Given the description of an element on the screen output the (x, y) to click on. 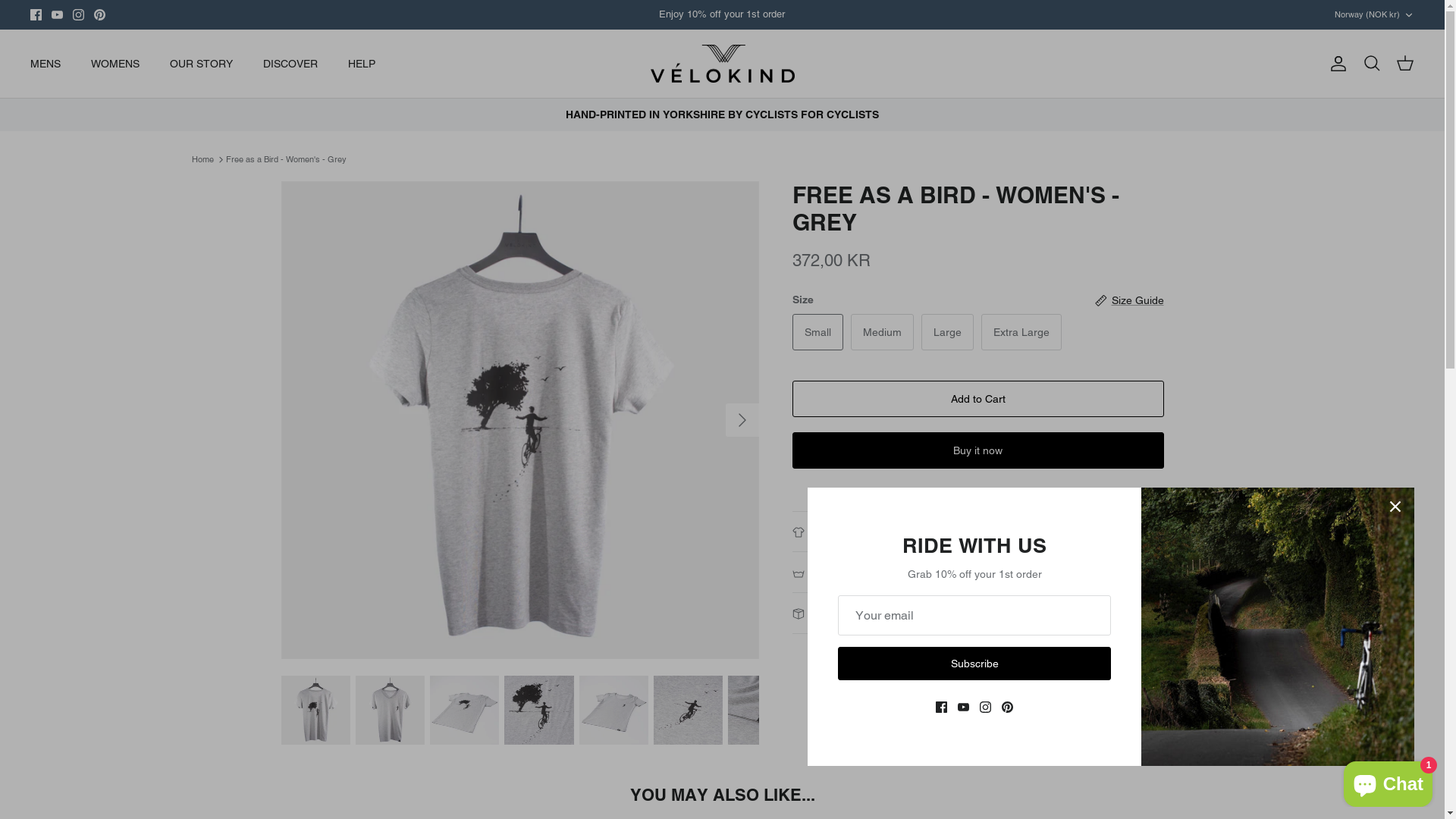
Right Element type: text (741, 419)
Youtube Element type: text (56, 14)
OUR STORY Element type: text (201, 63)
Search Element type: text (1371, 63)
Account Element type: text (1335, 63)
Norway (NOK kr)
Down Element type: text (1374, 14)
Free as a Bird - Women's - Grey Element type: text (285, 158)
Shopify online store chat Element type: hover (1388, 780)
Pinterest Element type: text (99, 14)
WOMENS Element type: text (115, 63)
Cart Element type: text (1405, 63)
HELP Element type: text (361, 63)
Subscribe Element type: text (973, 663)
MENS Element type: text (45, 63)
DISCOVER Element type: text (290, 63)
Add to Cart Element type: text (977, 398)
Size Guide Element type: text (1129, 299)
Facebook Element type: text (35, 14)
Home Element type: text (202, 158)
Buy it now Element type: text (977, 450)
Instagram Element type: text (78, 14)
